Given the description of an element on the screen output the (x, y) to click on. 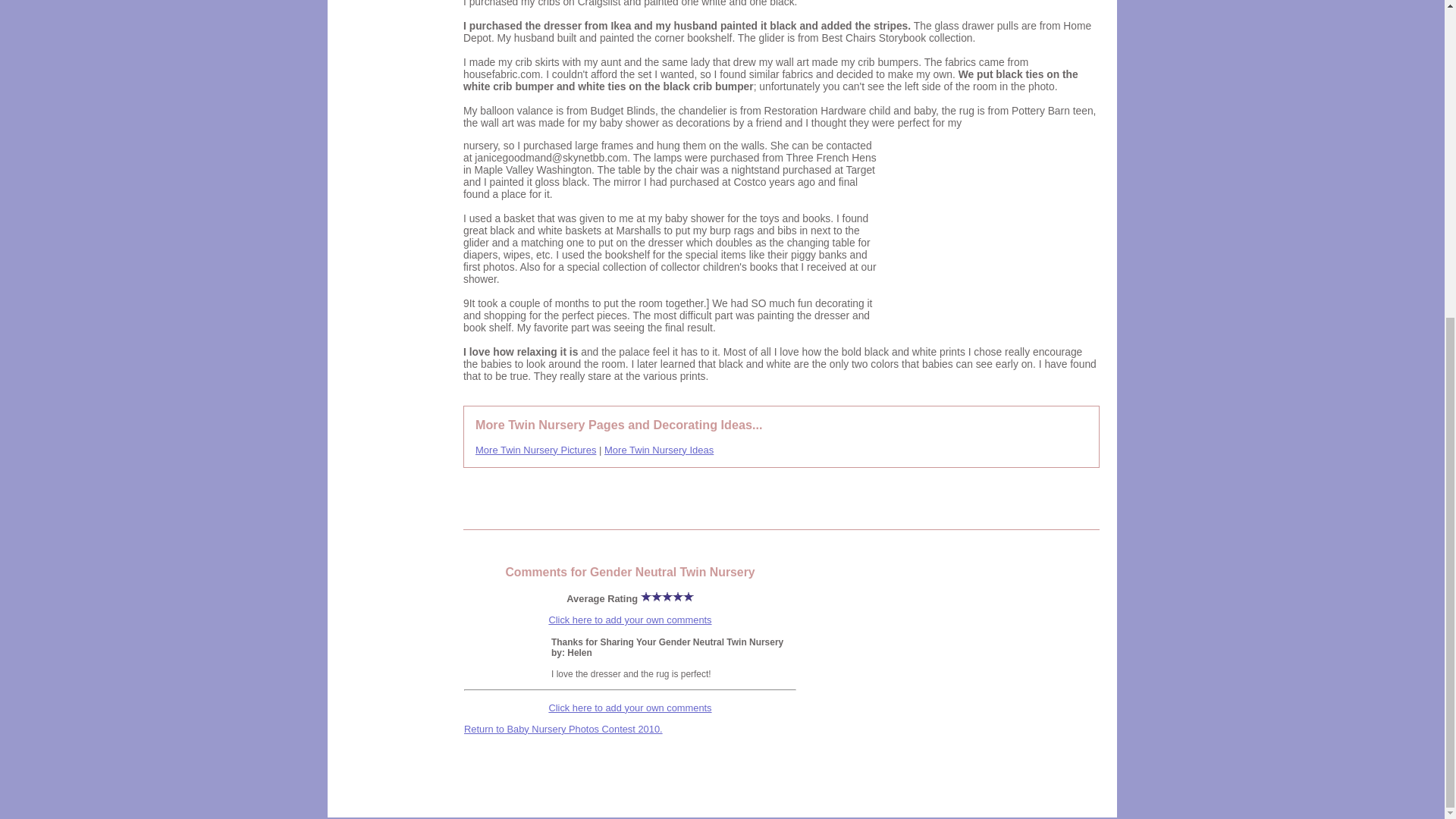
Advertisement (991, 234)
Click here to add your own comments (629, 619)
More Twin Nursery Ideas (658, 449)
More Twin Nursery Pictures (535, 449)
Click here to add your own comments (629, 707)
Return to Baby Nursery Photos Contest 2010. (563, 728)
